Given the description of an element on the screen output the (x, y) to click on. 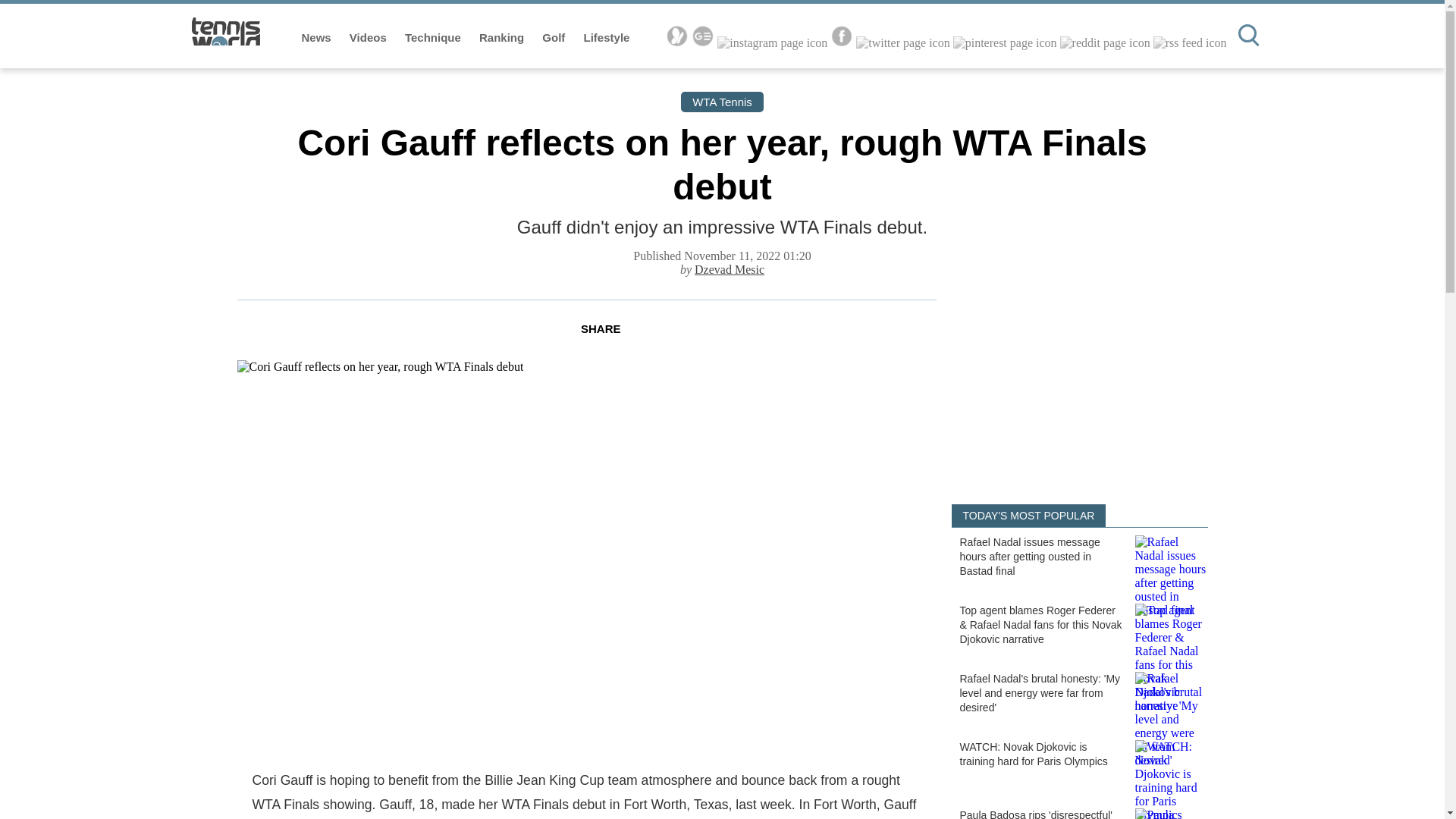
News (317, 37)
Videos (369, 37)
Golf (554, 37)
Technique (434, 37)
Ranking (503, 37)
Lifestyle (606, 37)
